Given the description of an element on the screen output the (x, y) to click on. 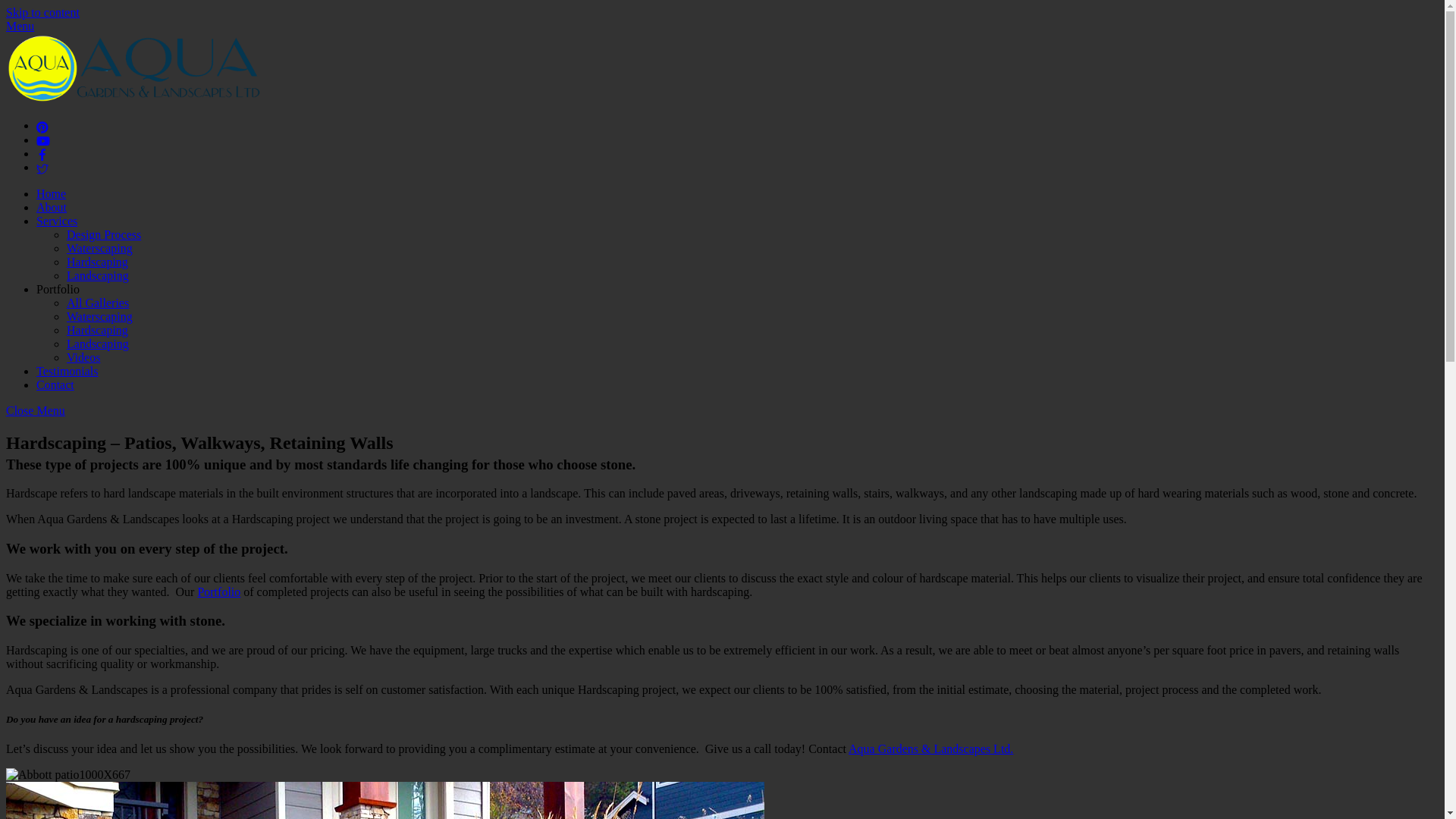
Hardscaping Element type: text (97, 261)
Waterscaping Element type: text (99, 247)
Landscaping Element type: text (97, 343)
Landscaping Element type: text (97, 275)
Portfolio Element type: text (57, 288)
Aqua Gardens & Landscapes Ltd. Element type: text (930, 748)
Skip to content Element type: text (42, 12)
All Galleries Element type: text (97, 302)
Videos Element type: text (83, 357)
Testimonials Element type: text (67, 370)
Aqua Gardens and Landscapes Ltd. Element type: hover (138, 99)
Hardscaping Element type: text (97, 329)
Contact Element type: text (55, 384)
Home Element type: text (50, 193)
Aqua Gardens and Landscapes Ltd. Element type: hover (138, 68)
Menu Element type: text (20, 25)
Abbott patio1000X667 Element type: hover (68, 774)
About Element type: text (51, 206)
Design Process Element type: text (103, 234)
Waterscaping Element type: text (99, 316)
Portfolio Element type: text (218, 591)
Services Element type: text (56, 220)
Close Menu Element type: text (35, 410)
